Given the description of an element on the screen output the (x, y) to click on. 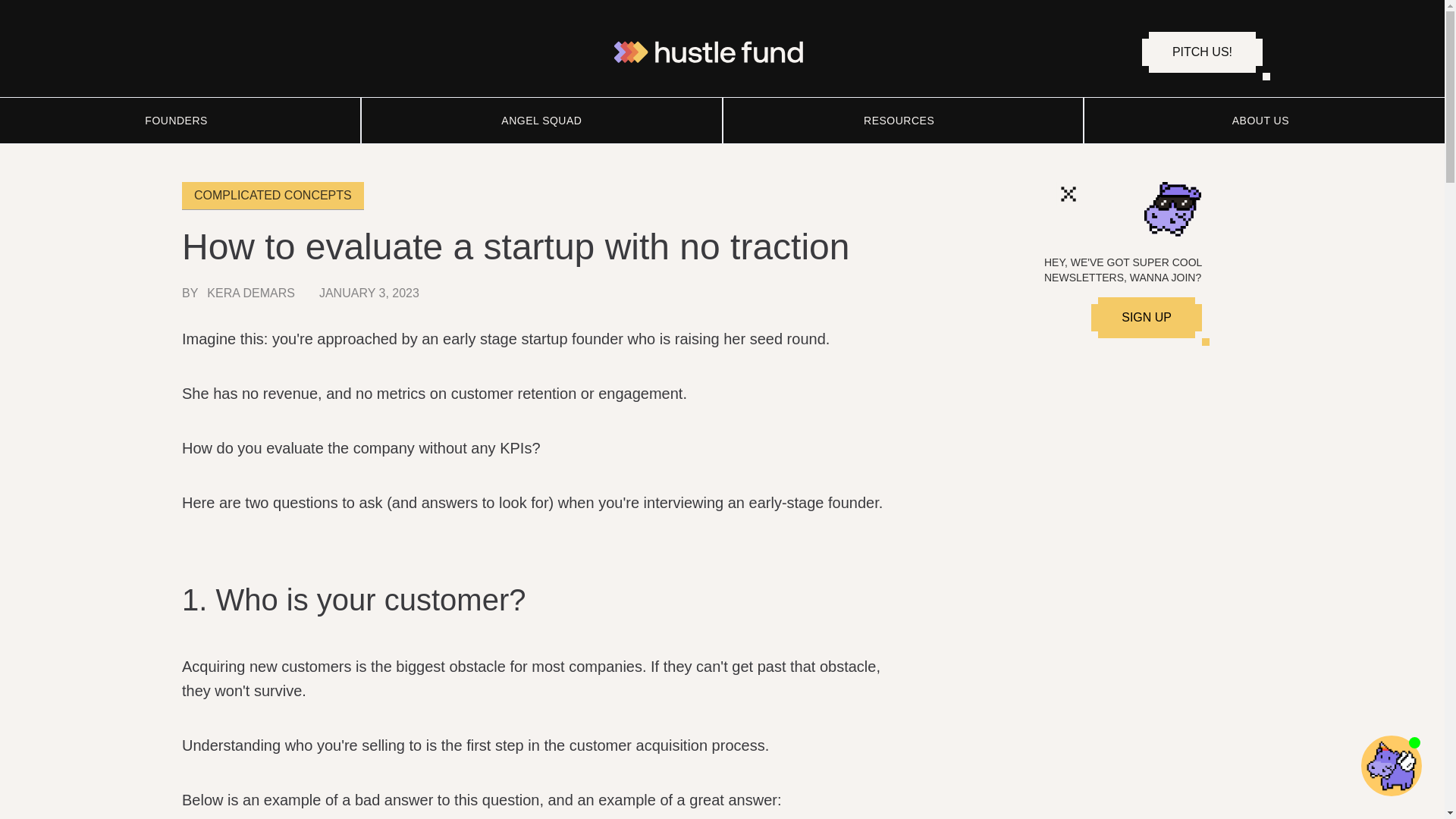
COMPLICATED CONCEPTS (273, 195)
SIGN UP (1146, 317)
